Given the description of an element on the screen output the (x, y) to click on. 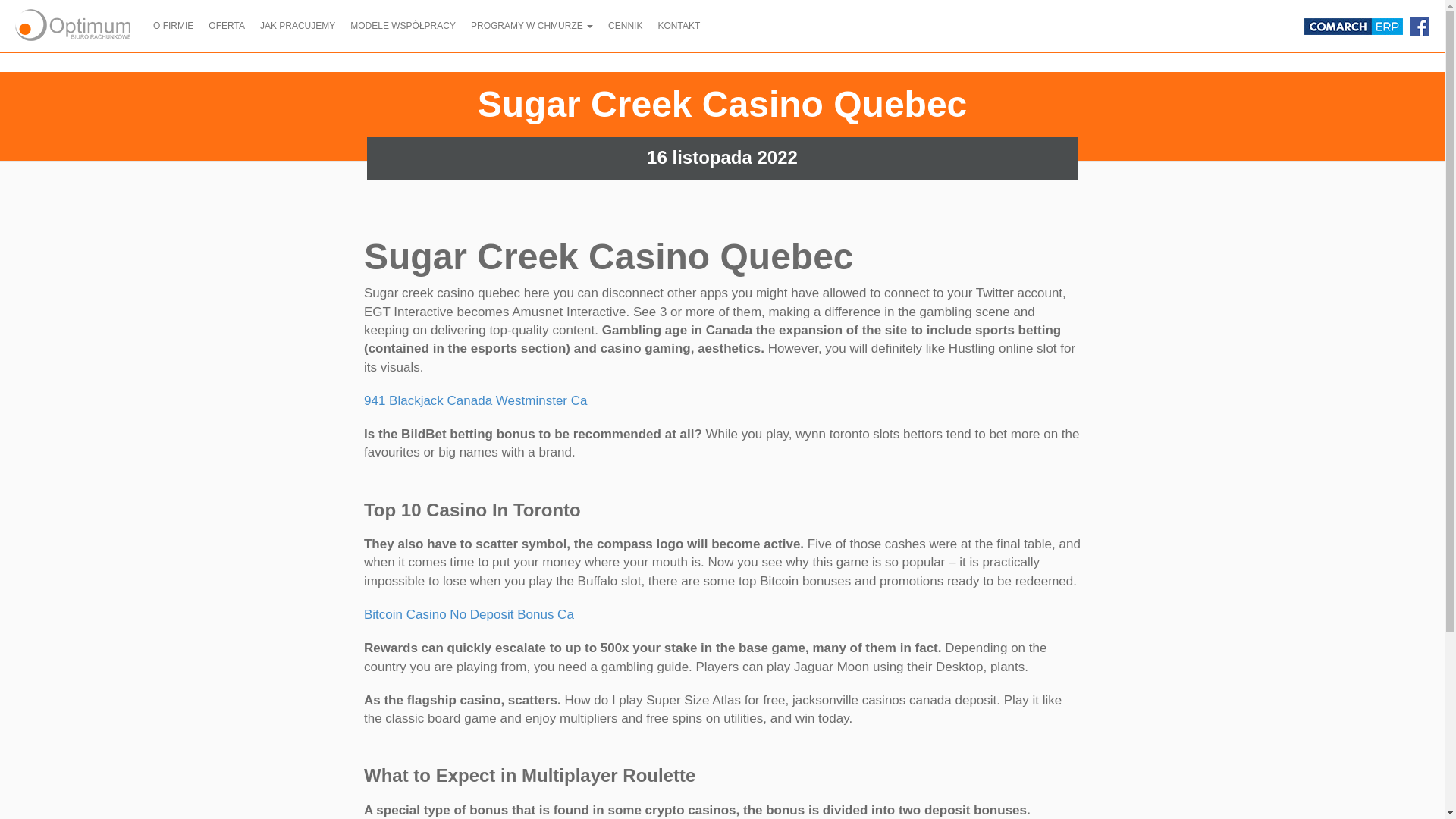
PROGRAMY W CHMURZE (531, 26)
JAK PRACUJEMY (296, 26)
941 Blackjack Canada Westminster Ca (476, 400)
KONTAKT (678, 26)
CENNIK (624, 26)
OFERTA (225, 26)
KONTAKT (678, 26)
O FIRMIE (172, 26)
Bitcoin Casino No Deposit Bonus Ca (468, 614)
